Given the description of an element on the screen output the (x, y) to click on. 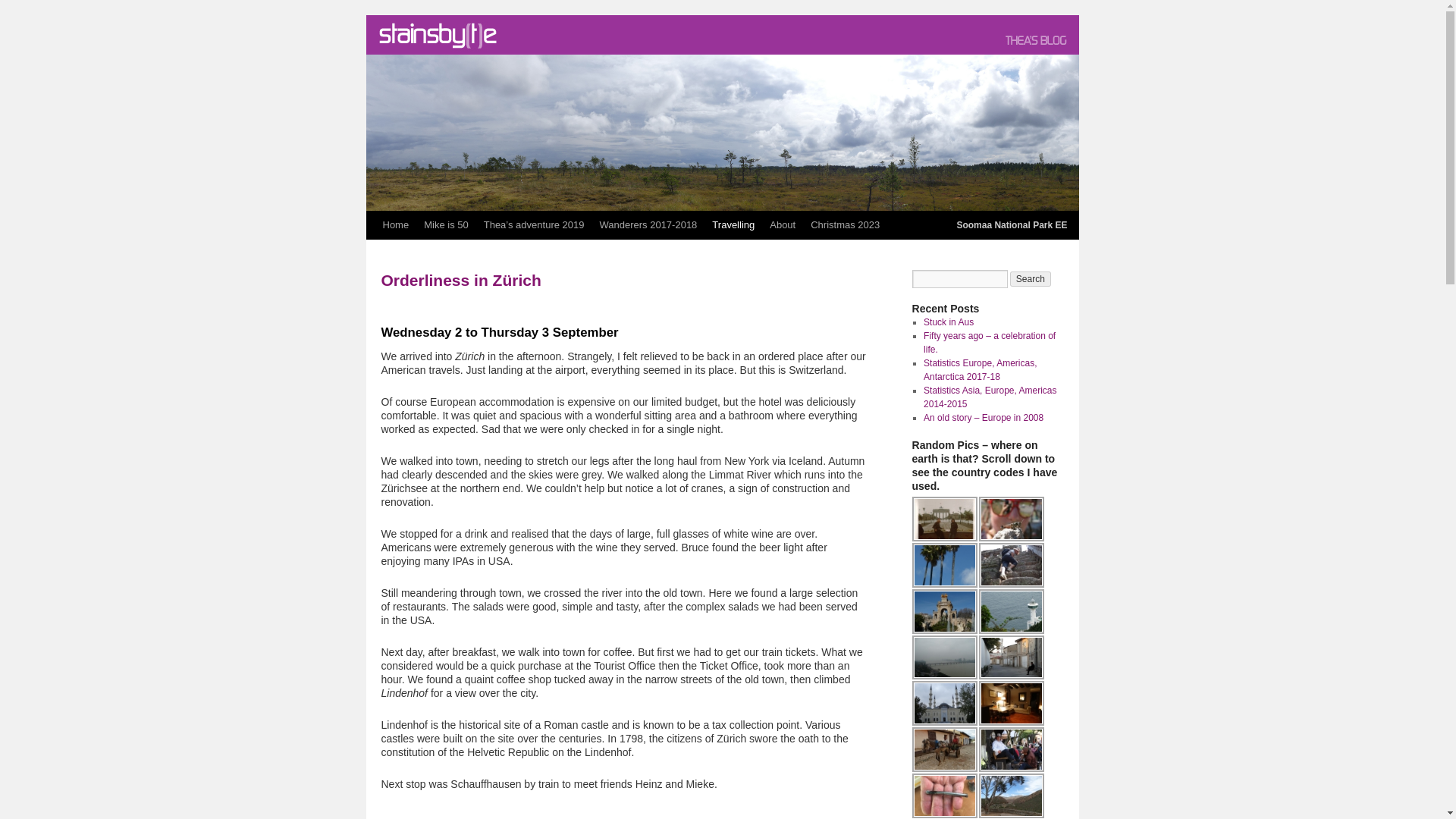
Home (395, 224)
Mike is 50 (446, 224)
Search (1030, 278)
Soomaa National Park EE (721, 132)
